Given the description of an element on the screen output the (x, y) to click on. 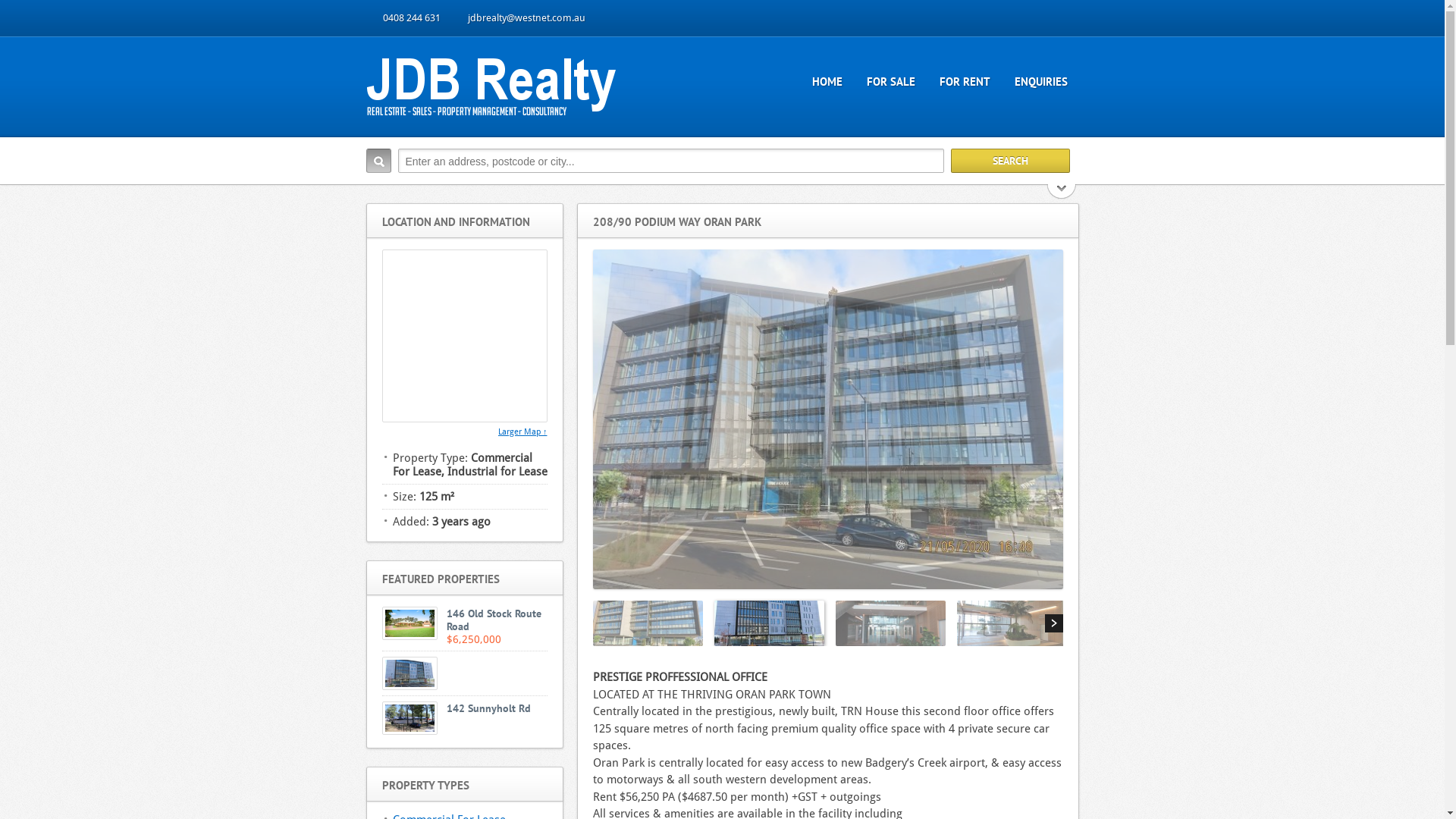
ENQUIRIES Element type: text (1040, 80)
146 Old Stock Route Road
$6,250,000 Element type: text (464, 625)
Search More Element type: text (1061, 191)
FOR RENT Element type: text (964, 80)
jdbrealty@westnet.com.au Element type: text (517, 17)
HOME Element type: text (826, 80)
Next Element type: text (1053, 623)
142 Sunnyholt Rd Element type: text (464, 717)
Search Element type: text (1010, 160)
FOR SALE Element type: text (890, 80)
